Given the description of an element on the screen output the (x, y) to click on. 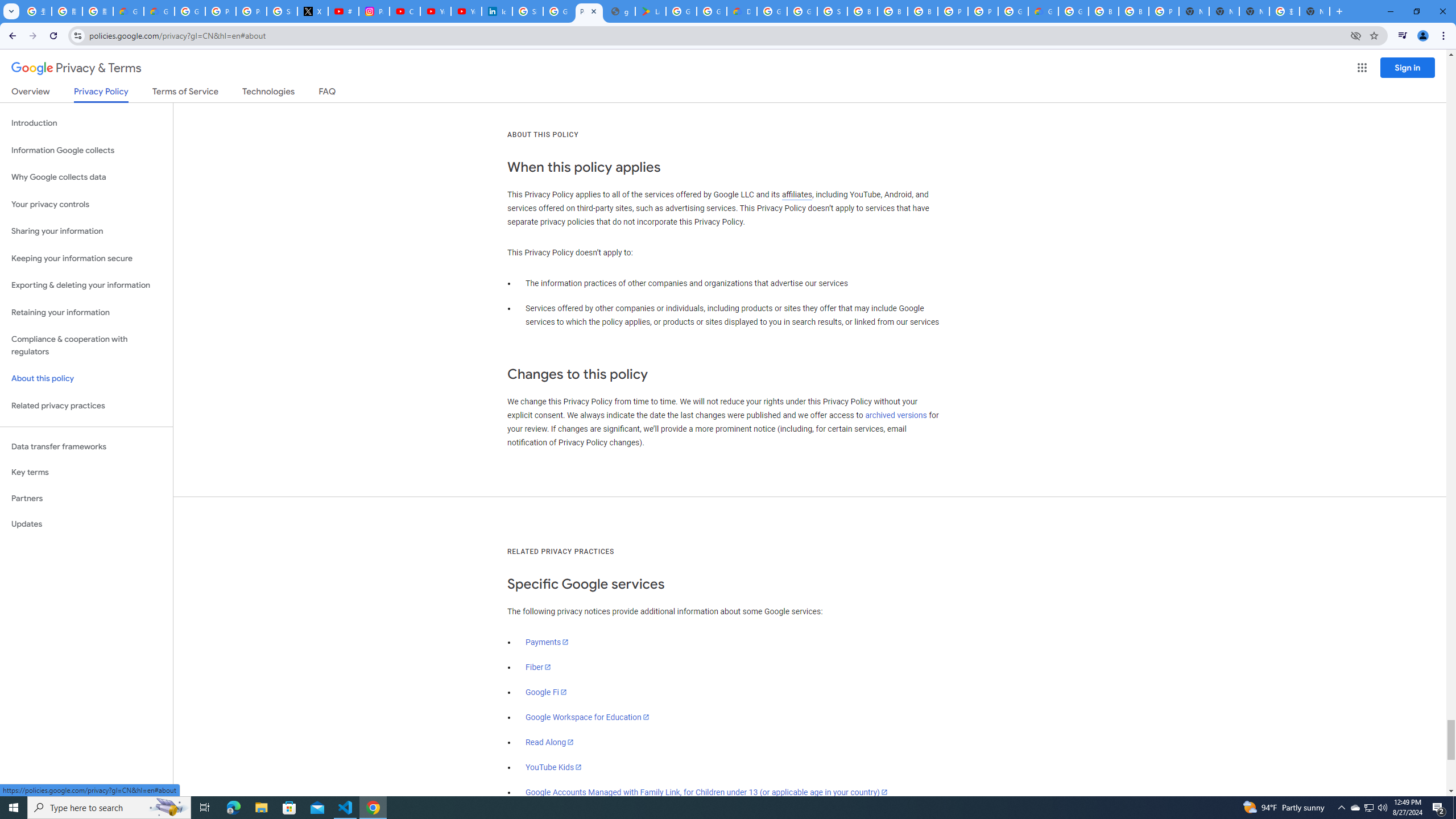
Privacy Help Center - Policies Help (220, 11)
#nbabasketballhighlights - YouTube (343, 11)
Google Workspace for Education (587, 716)
Last Shelter: Survival - Apps on Google Play (650, 11)
archived versions (895, 415)
